Given the description of an element on the screen output the (x, y) to click on. 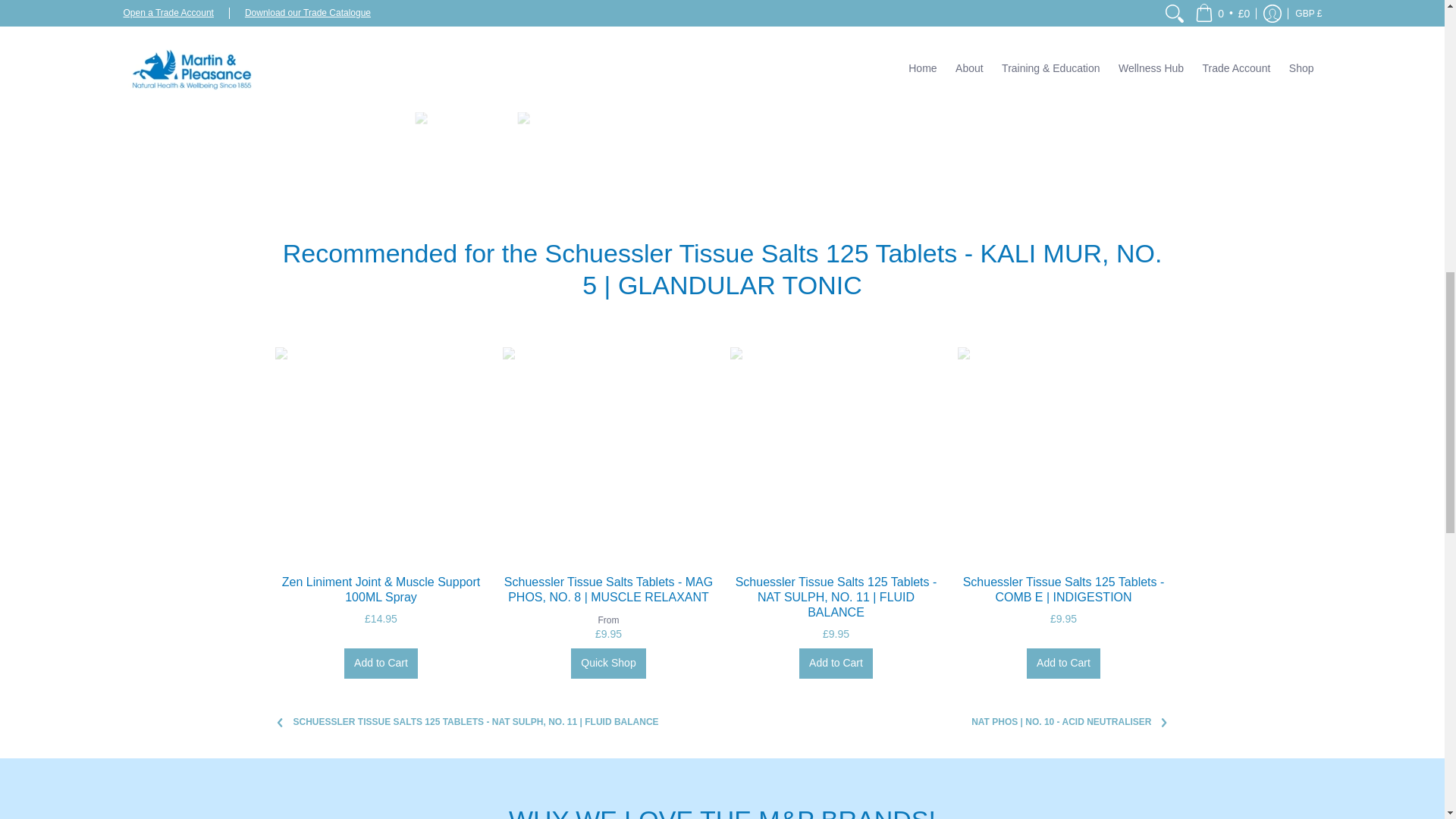
Add to Cart (1063, 663)
Add to Cart (835, 663)
Add to Cart (380, 663)
